Given the description of an element on the screen output the (x, y) to click on. 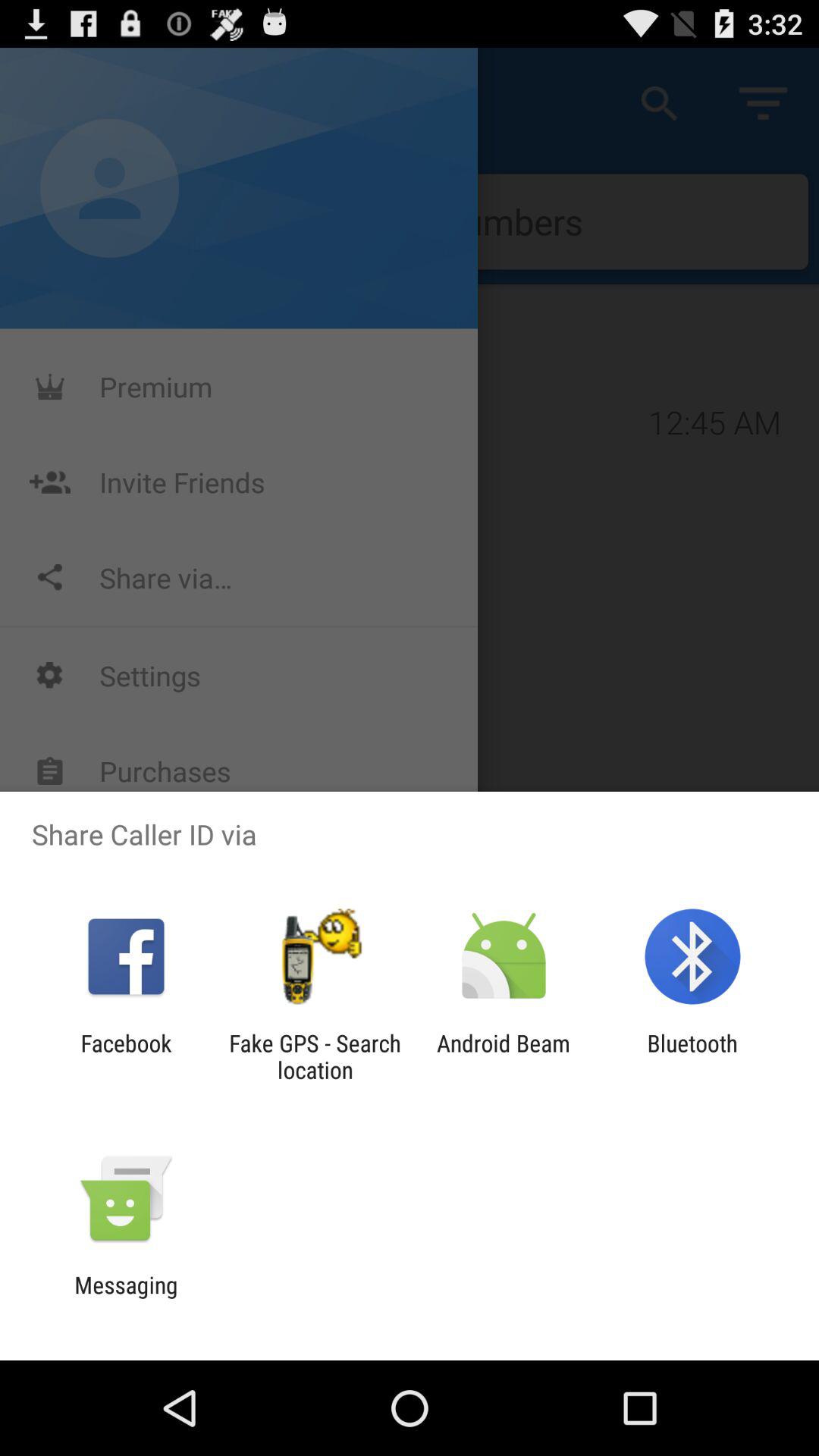
flip to fake gps search item (314, 1056)
